Given the description of an element on the screen output the (x, y) to click on. 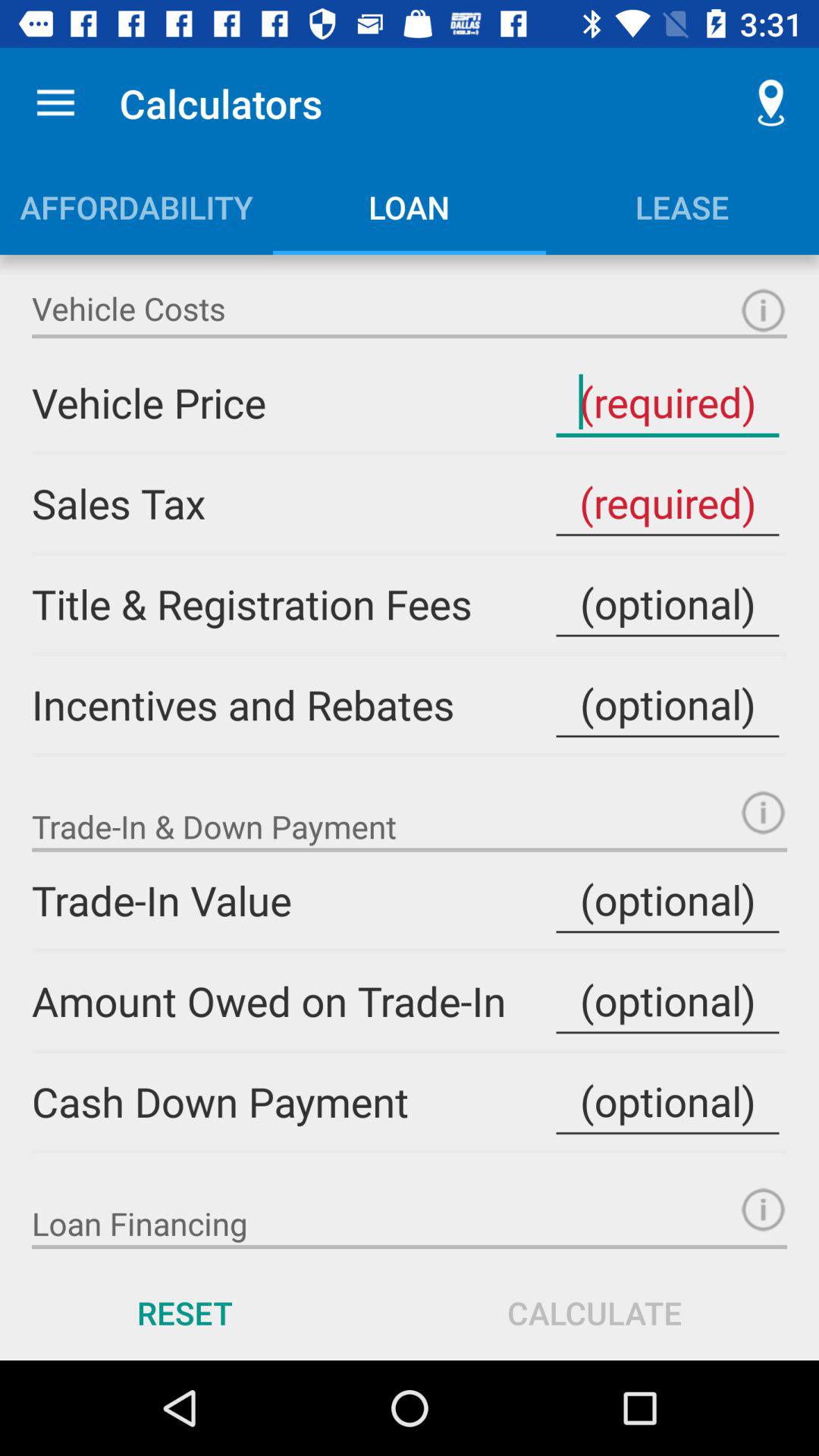
optional camp (667, 704)
